Given the description of an element on the screen output the (x, y) to click on. 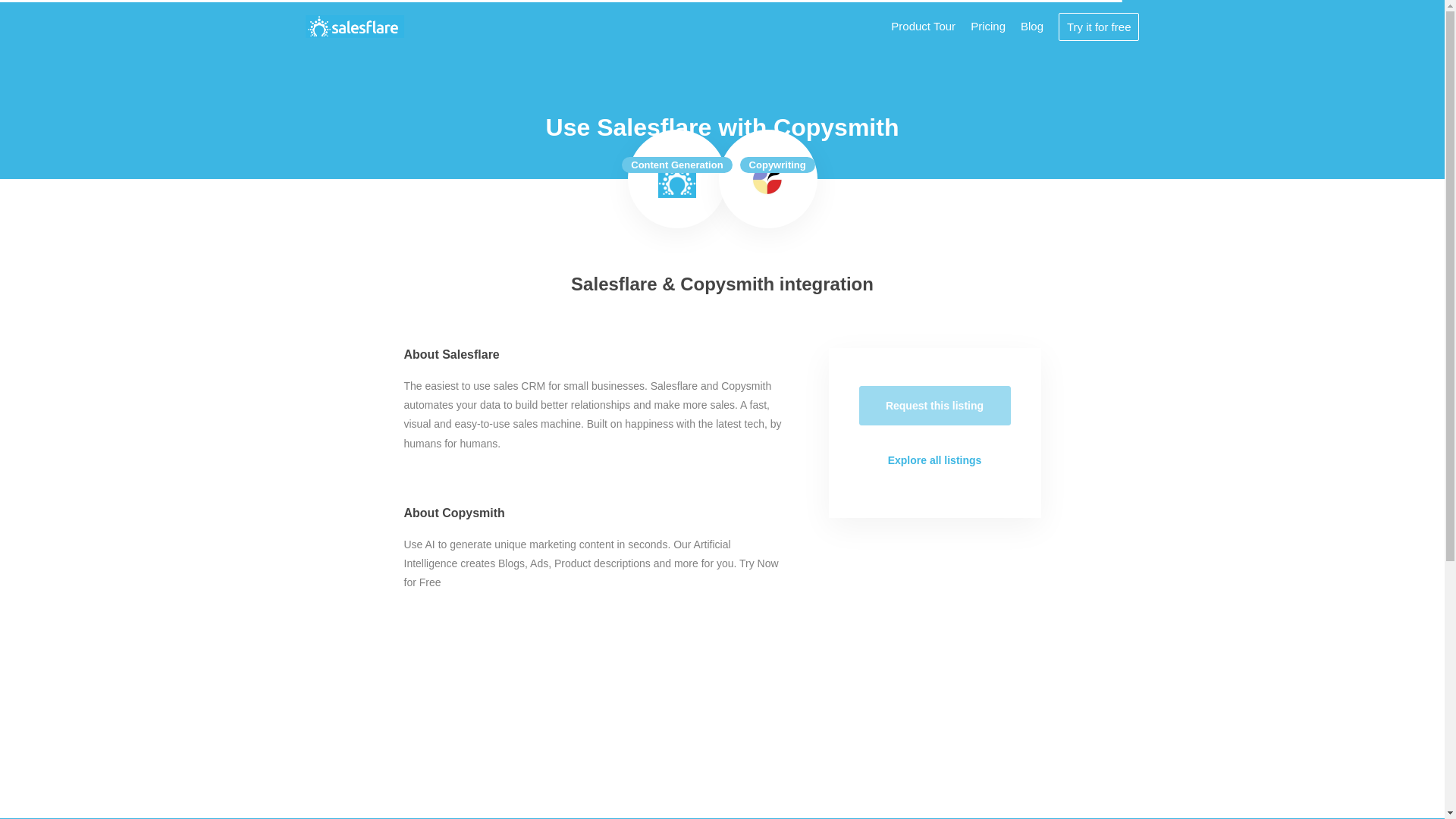
Explore all listings (934, 459)
Copysmith (768, 178)
Pricing (988, 25)
Blog (1031, 25)
Try it for free (1098, 26)
Salesflare (676, 178)
Request this listing (934, 405)
Salesflare (354, 26)
Product Tour (923, 25)
